Given the description of an element on the screen output the (x, y) to click on. 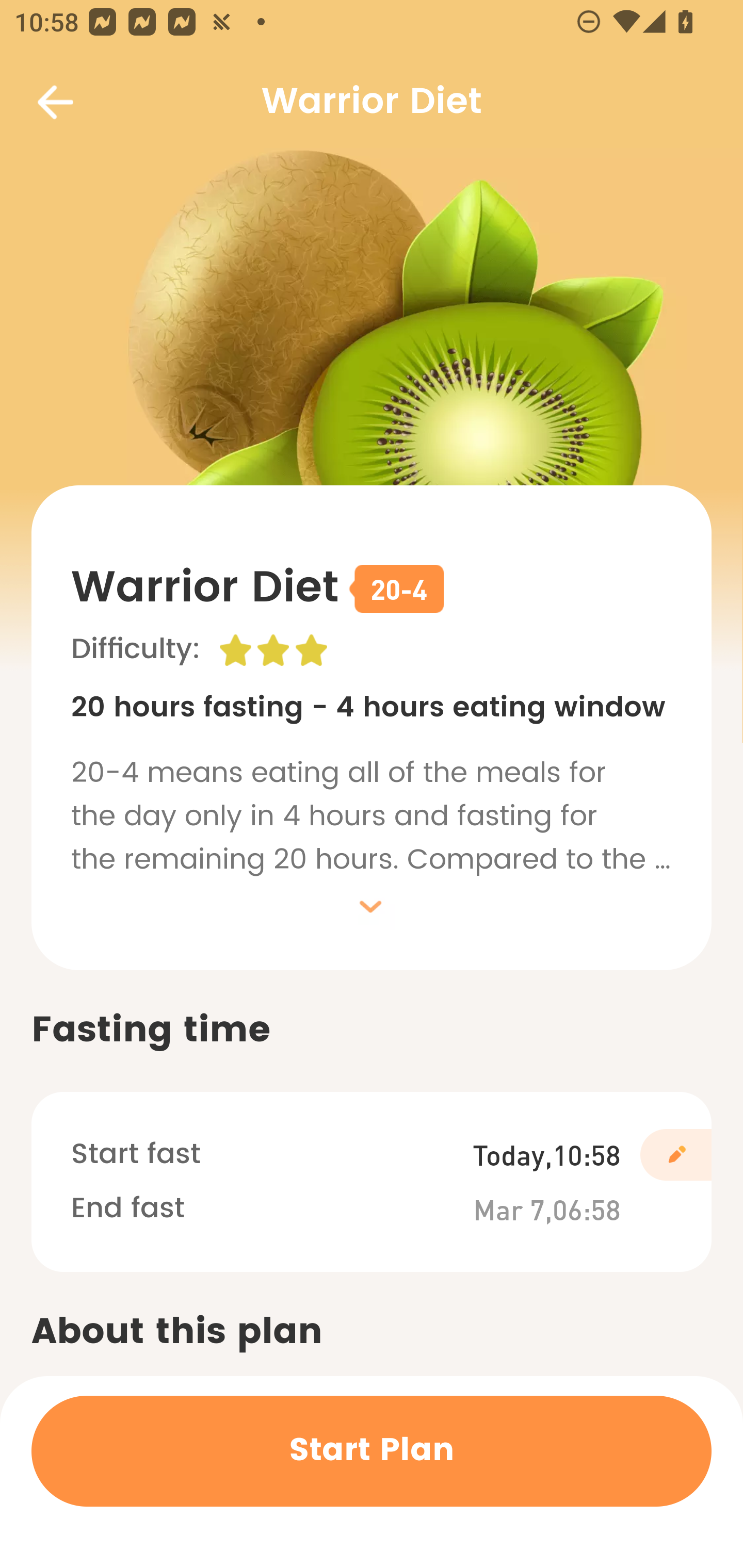
Start Plan (371, 1450)
